Given the description of an element on the screen output the (x, y) to click on. 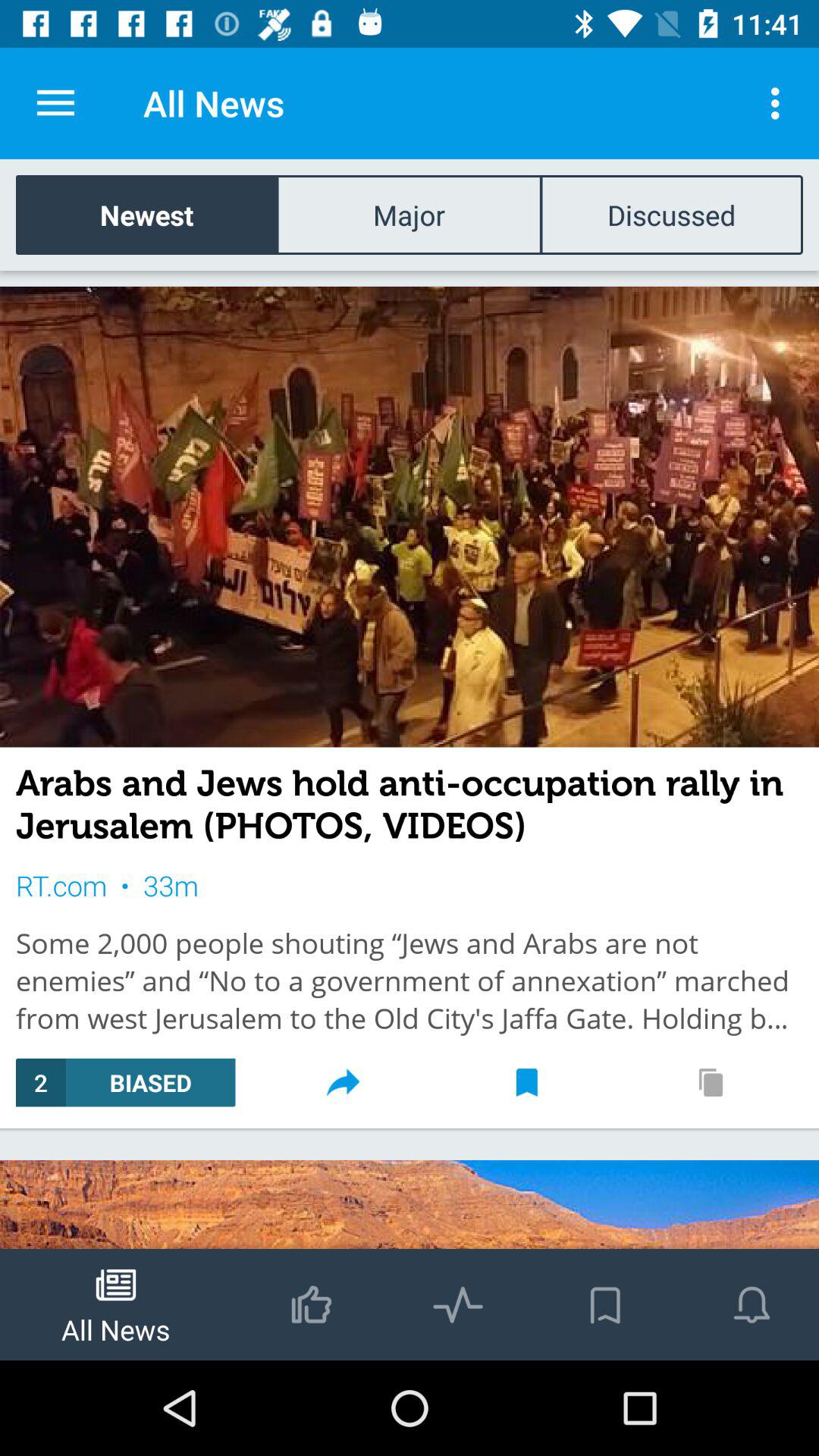
press the item to the left of major (146, 214)
